Given the description of an element on the screen output the (x, y) to click on. 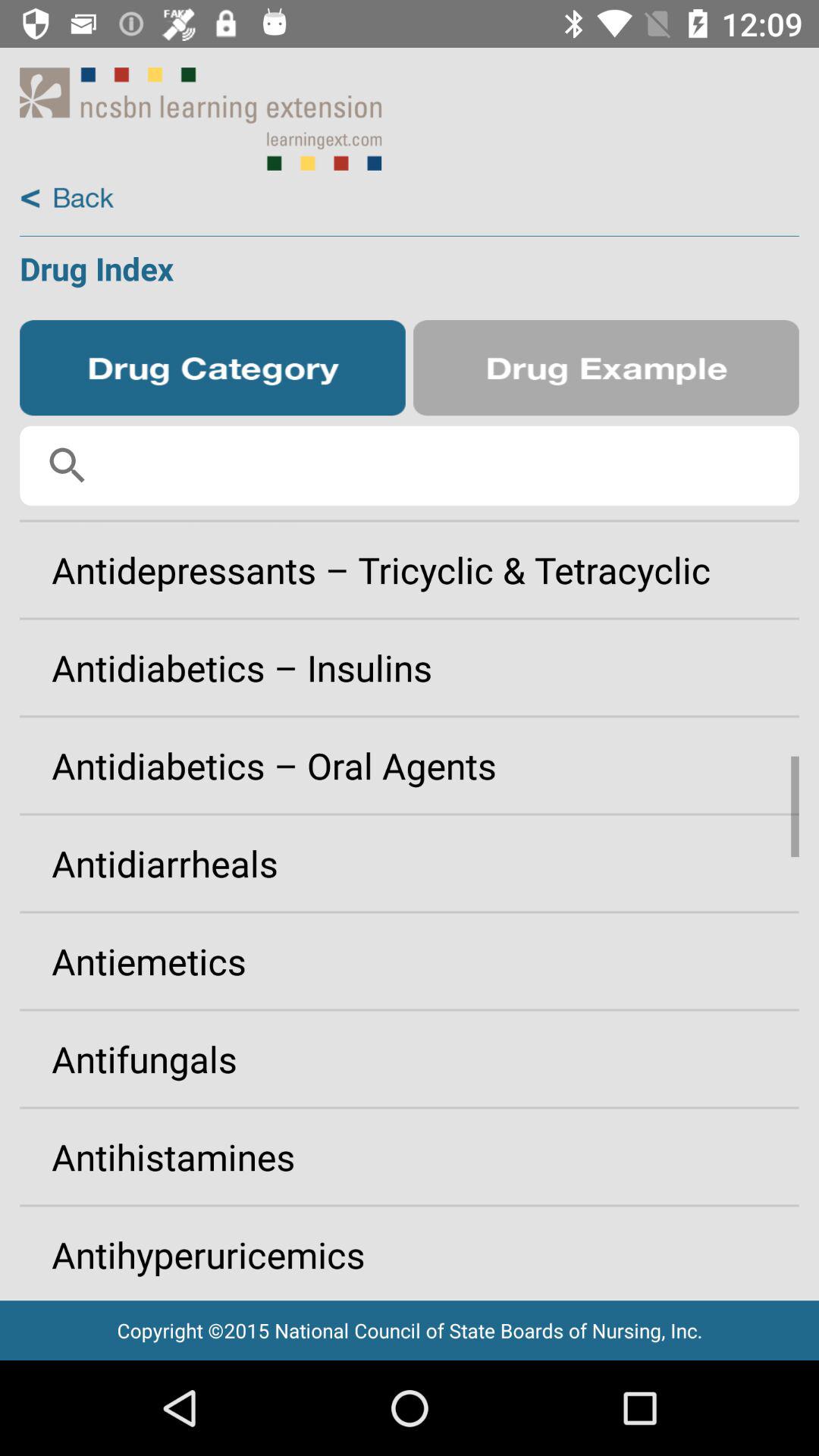
tap antidiarrheals app (409, 863)
